Given the description of an element on the screen output the (x, y) to click on. 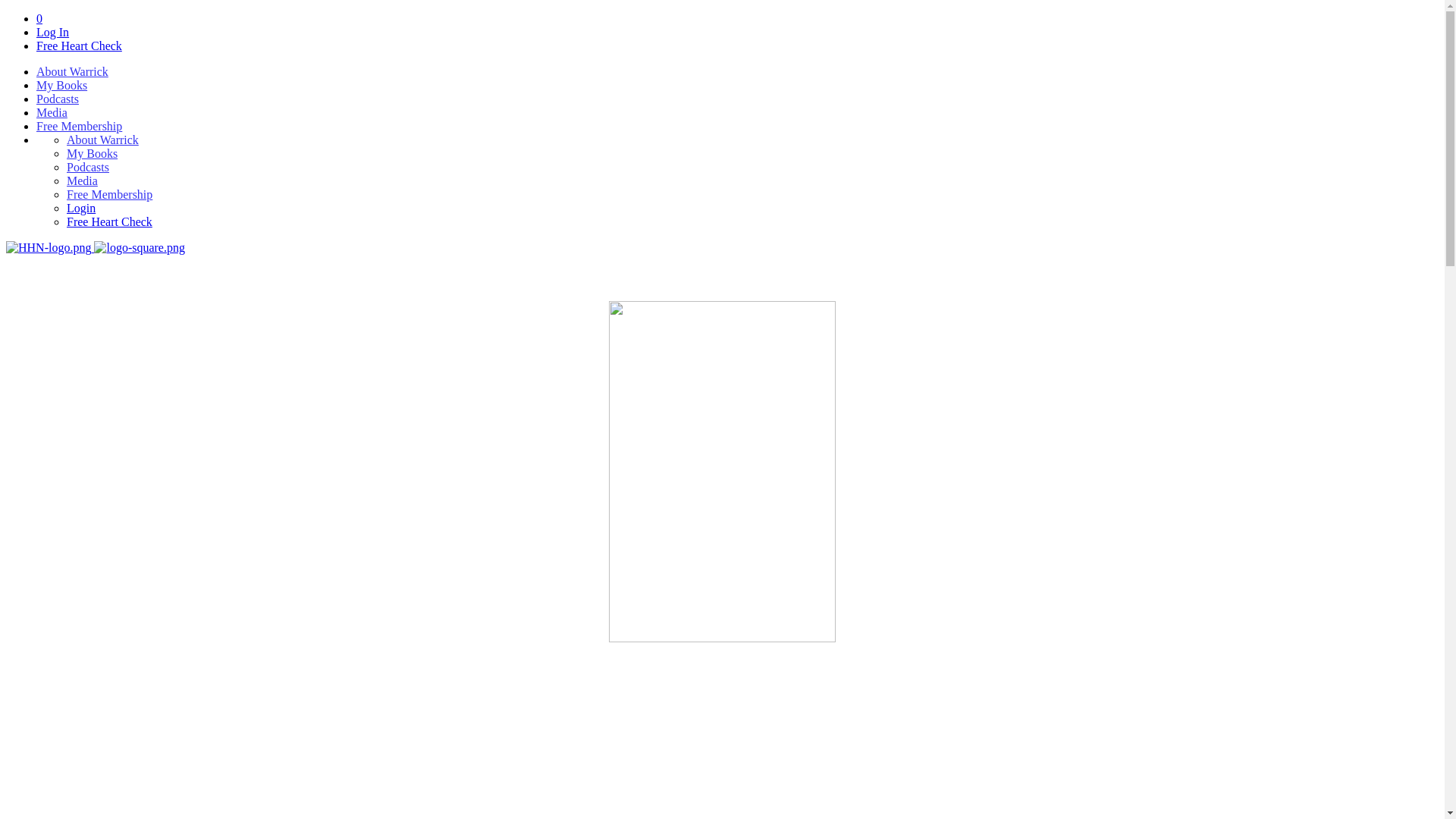
My Books Element type: text (91, 153)
About Warrick Element type: text (72, 71)
Free Heart Check Element type: text (79, 45)
HHN-logo.png Element type: hover (48, 247)
Free Membership Element type: text (109, 194)
Free Membership Element type: text (79, 125)
Media Element type: text (51, 112)
Log In Element type: text (52, 31)
Podcasts Element type: text (57, 98)
0 Element type: text (39, 18)
About Warrick Element type: text (102, 139)
logo-square.png Element type: hover (139, 247)
Media Element type: text (81, 180)
My Books Element type: text (61, 84)
Login Element type: text (80, 207)
Podcasts Element type: text (87, 166)
Free Heart Check Element type: text (109, 221)
